Given the description of an element on the screen output the (x, y) to click on. 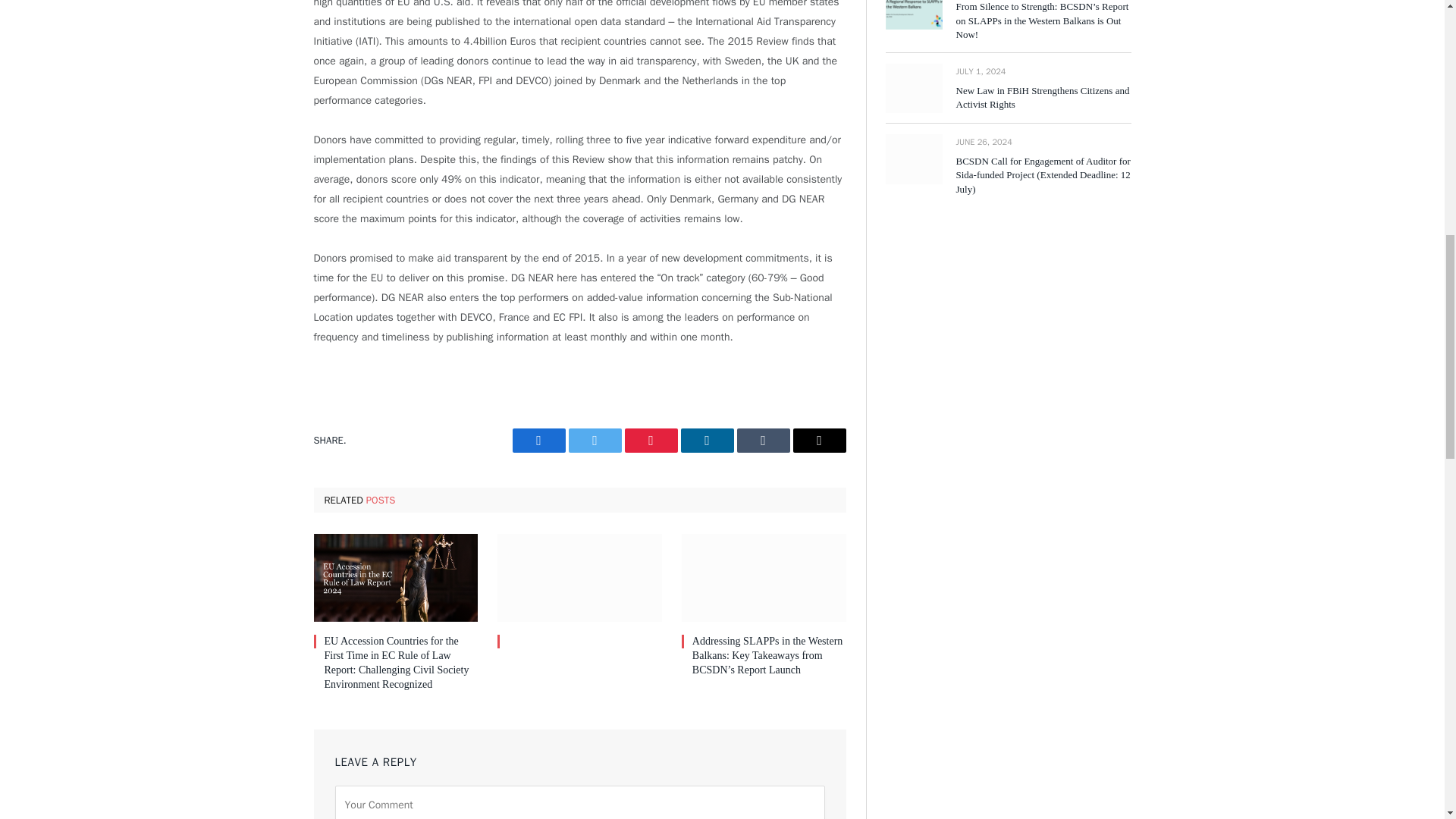
Share on Tumblr (763, 440)
Share on Facebook (539, 440)
Share on Pinterest (651, 440)
Share on LinkedIn (707, 440)
